Given the description of an element on the screen output the (x, y) to click on. 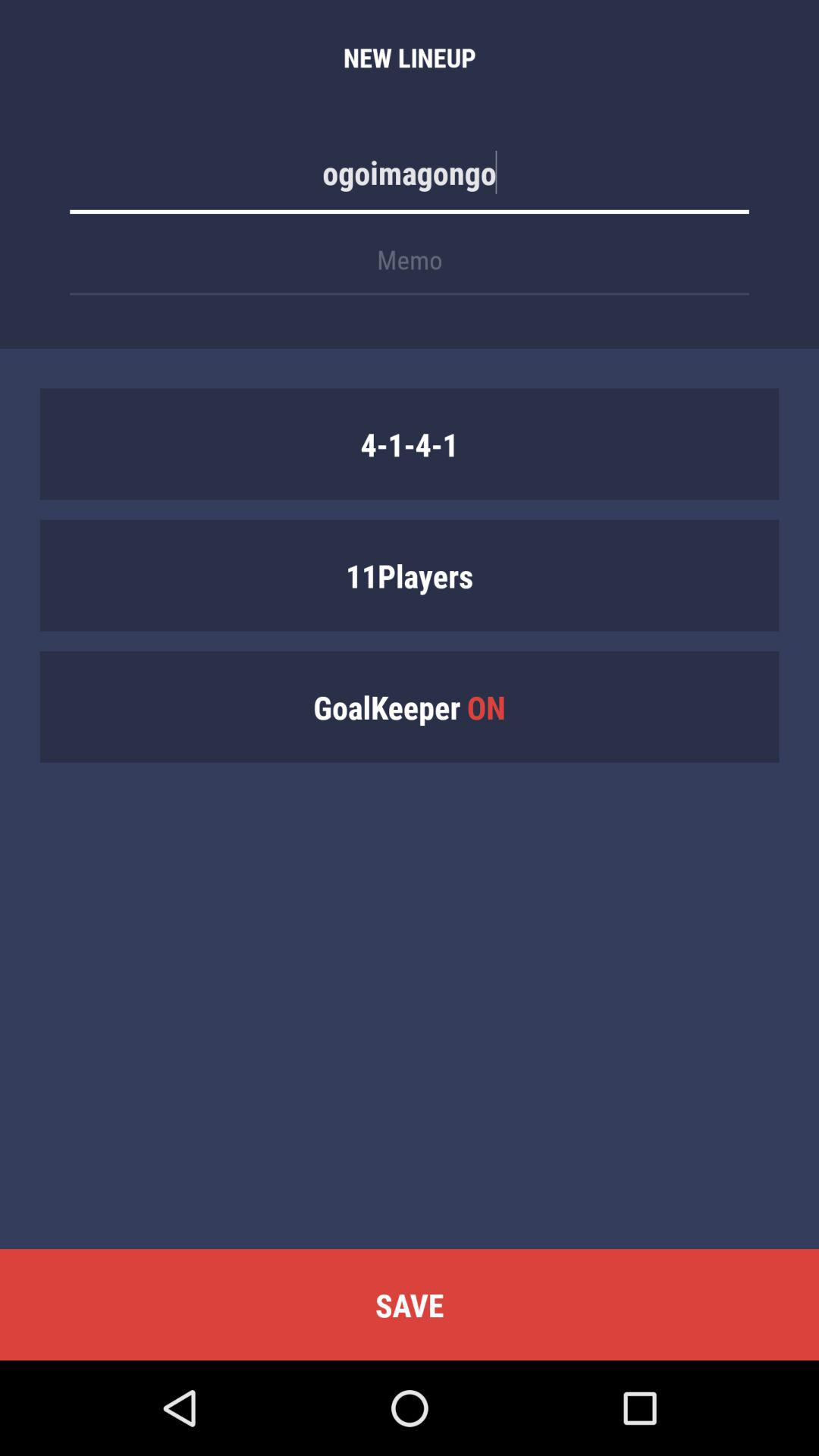
jump to the 11players (409, 575)
